Given the description of an element on the screen output the (x, y) to click on. 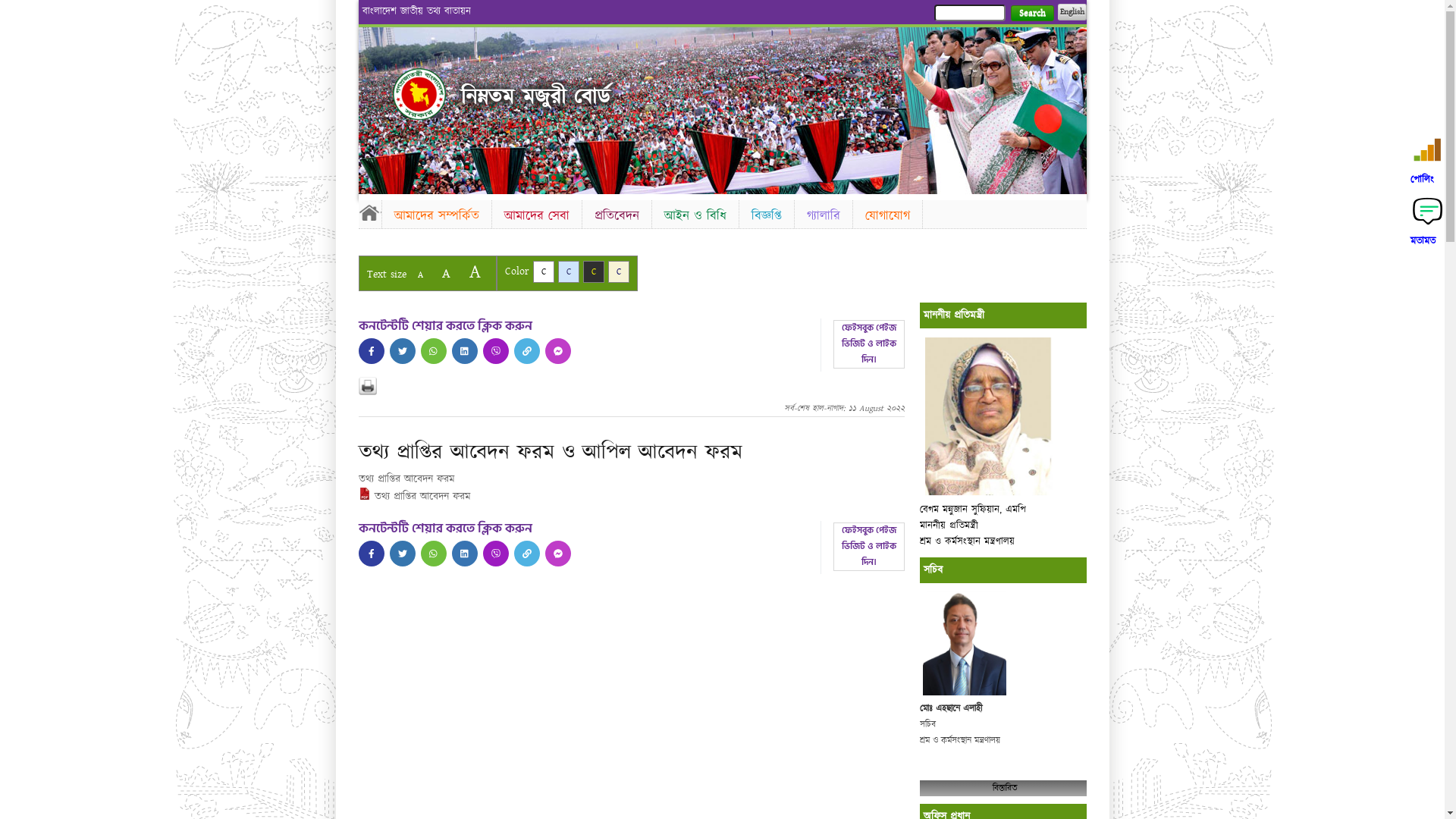
Home Element type: hover (418, 93)
A Element type: text (445, 273)
A Element type: text (419, 274)
A Element type: text (474, 271)
Home Element type: hover (368, 211)
C Element type: text (618, 271)
C Element type: text (592, 271)
C Element type: text (542, 271)
Search Element type: text (1031, 13)
C Element type: text (568, 271)
English Element type: text (1071, 11)
